Given the description of an element on the screen output the (x, y) to click on. 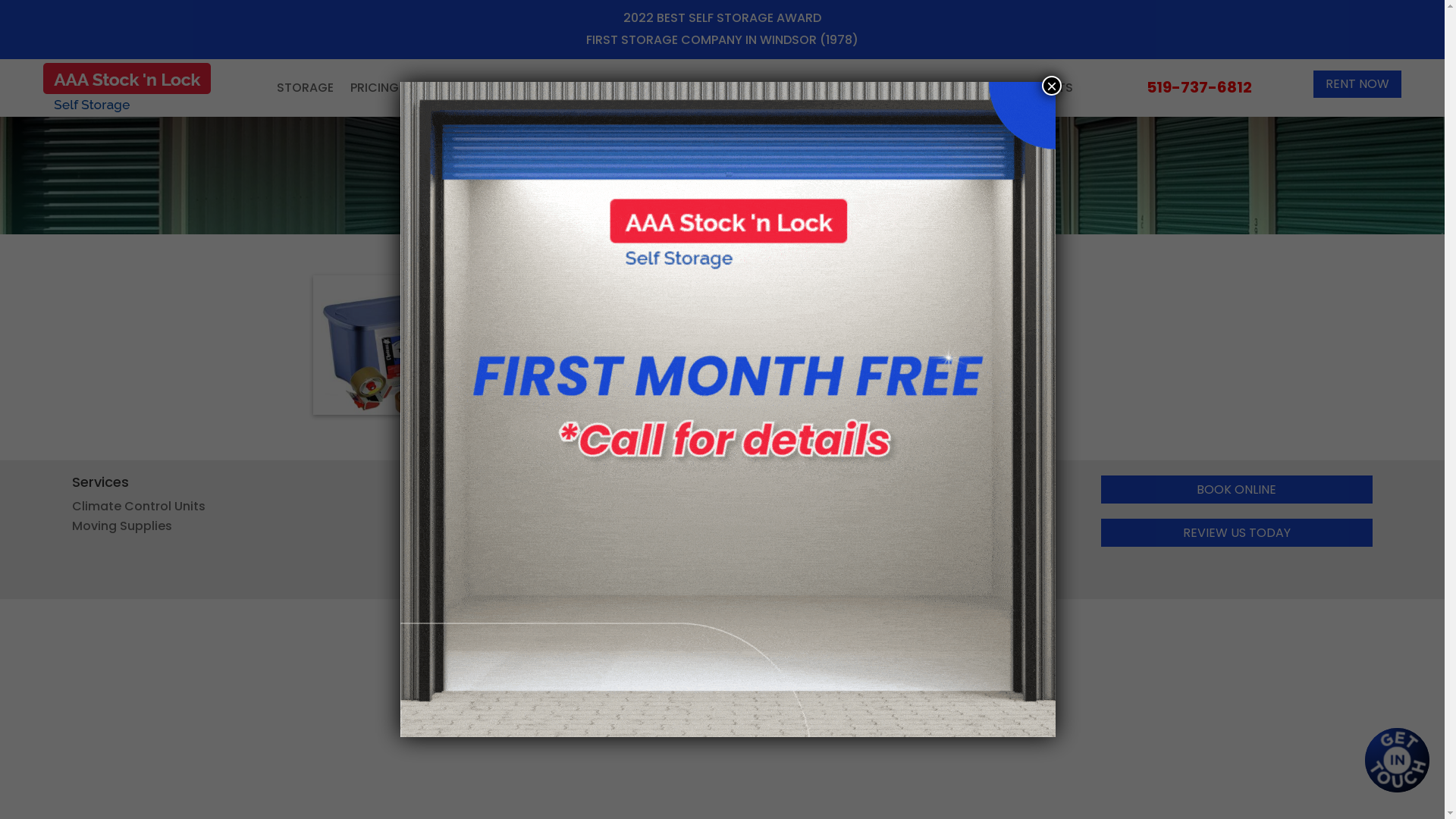
Moving Supplies Element type: text (122, 525)
STORAGE Element type: text (304, 87)
GALLERY Element type: text (550, 87)
519-737-6812 Element type: text (455, 550)
REVIEW US TODAY Element type: text (1236, 532)
Gallery Element type: text (779, 505)
Reserve Online Element type: text (803, 525)
RESERVE ONLINE Element type: text (461, 87)
CONTACT US Element type: text (674, 87)
MAP Element type: text (605, 87)
STORAGE SIZE CALCULATOR Element type: text (814, 87)
BOOK ONLINE Element type: text (1236, 489)
Climate Control Units Element type: text (138, 505)
storage1@mnsi.net Element type: text (473, 572)
INSPIRATIONAL THOUGHTS Element type: text (994, 87)
storage-supplies Element type: hover (405, 344)
BreezeMaxWeb Element type: text (796, 612)
RENT NOW Element type: text (1357, 84)
FREE TIPS DOWNLOAD Element type: text (601, 405)
519-737-6812 Element type: text (1199, 86)
PRICING Element type: text (374, 87)
